Given the description of an element on the screen output the (x, y) to click on. 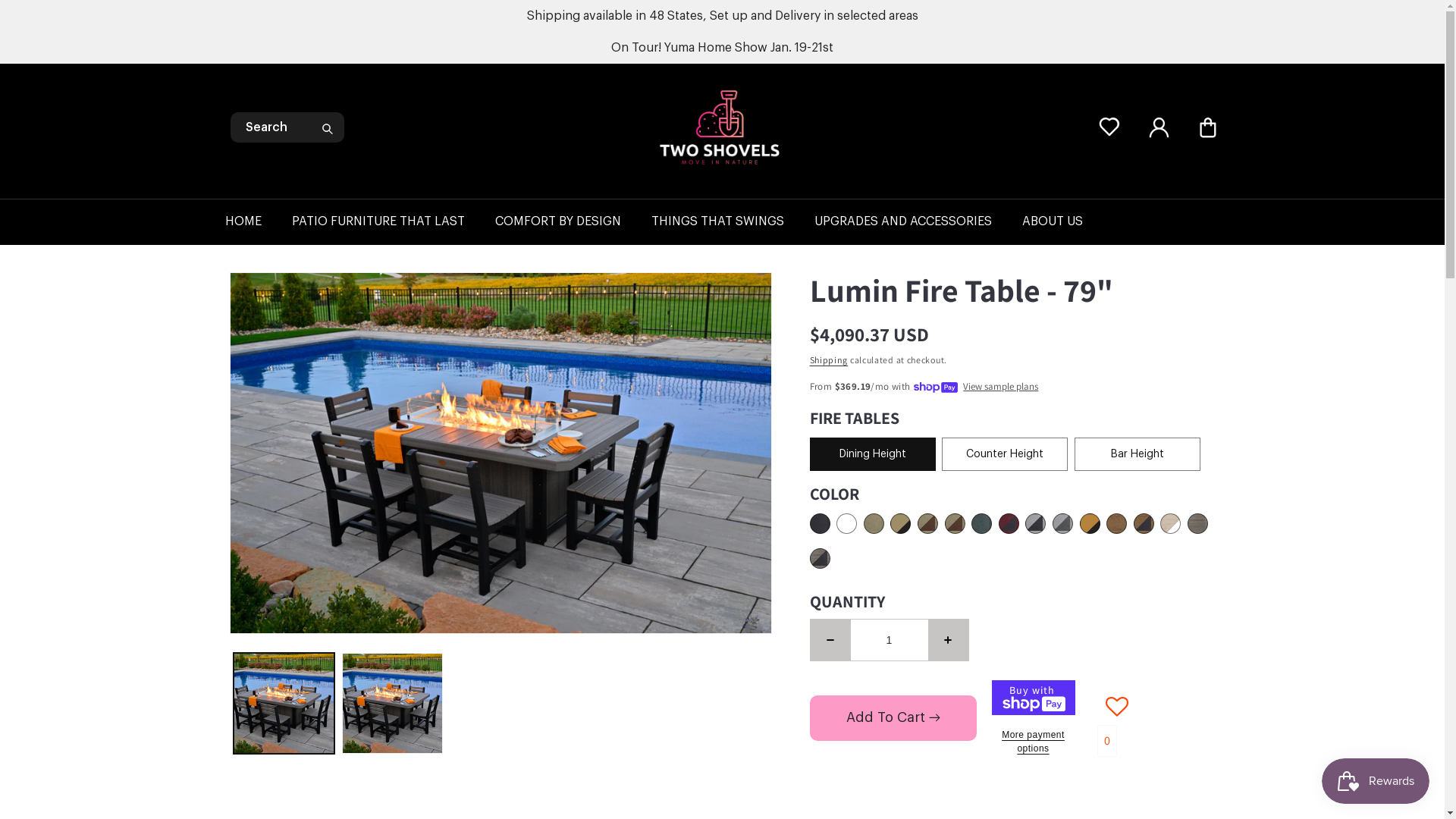
Decrease quantity for Lumin Fire Table - 79&quot; Element type: text (829, 638)
Skip to product information Element type: text (275, 289)
Cart Element type: text (1206, 127)
UPGRADES AND ACCESSORIES Element type: text (918, 221)
Log in Element type: text (1158, 127)
Add To Cart Element type: text (892, 717)
PATIO FURNITURE THAT LAST Element type: text (392, 221)
HOME Element type: text (257, 221)
THINGS THAT SWINGS Element type: text (731, 221)
COMFORT BY DESIGN Element type: text (572, 221)
Shipping Element type: text (828, 359)
ABOUT US Element type: text (1067, 221)
Smile.io Rewards Program Launcher Element type: hover (1375, 780)
More payment options Element type: text (1033, 741)
Increase quantity for Lumin Fire Table - 79&quot; Element type: text (948, 638)
